Given the description of an element on the screen output the (x, y) to click on. 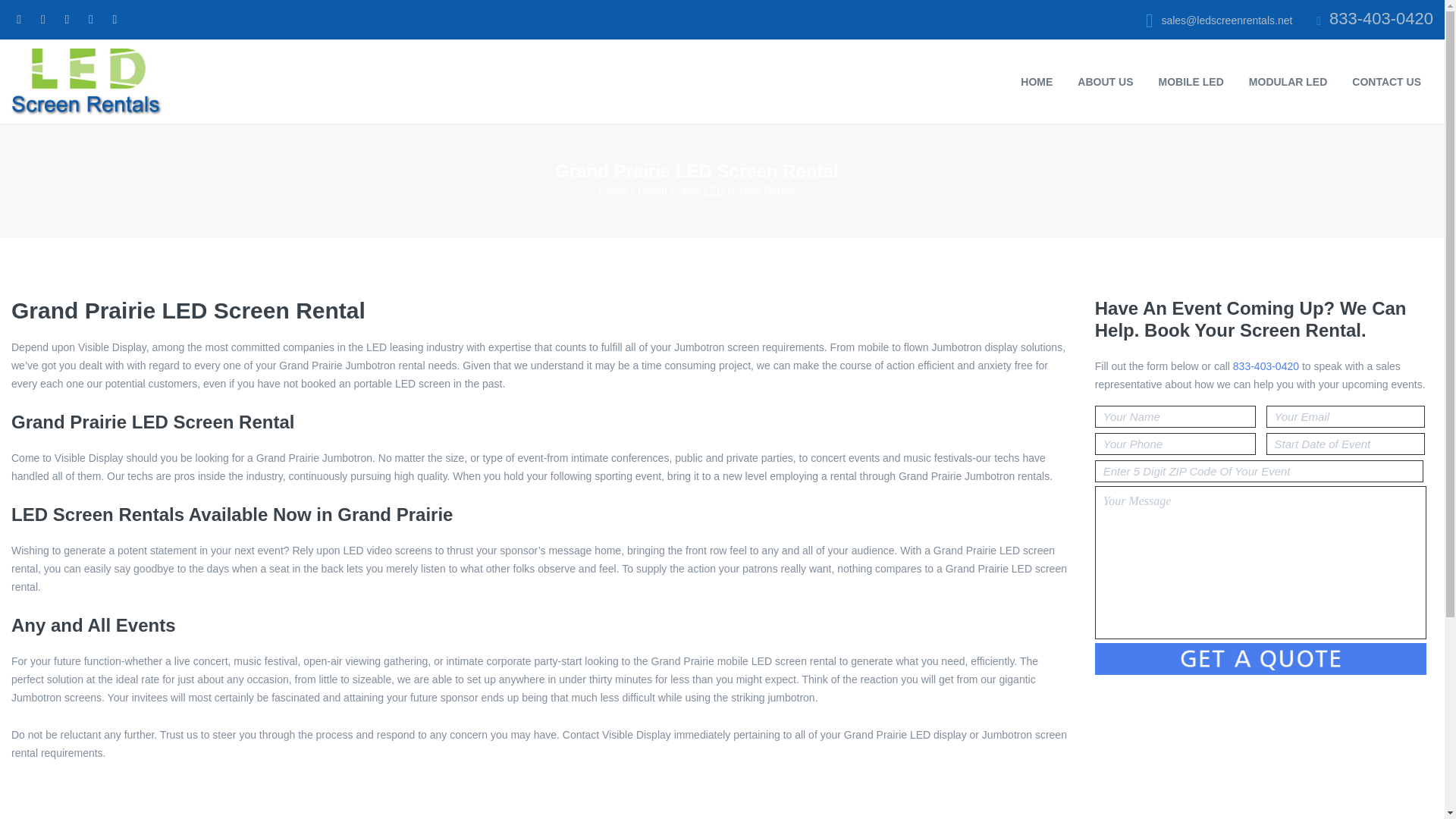
MOBILE LED (1189, 81)
Logo (86, 81)
MODULAR LED (1287, 81)
ABOUT US (1104, 81)
833-403-0420 (1380, 18)
CONTACT US (1385, 81)
Home (612, 191)
